Given the description of an element on the screen output the (x, y) to click on. 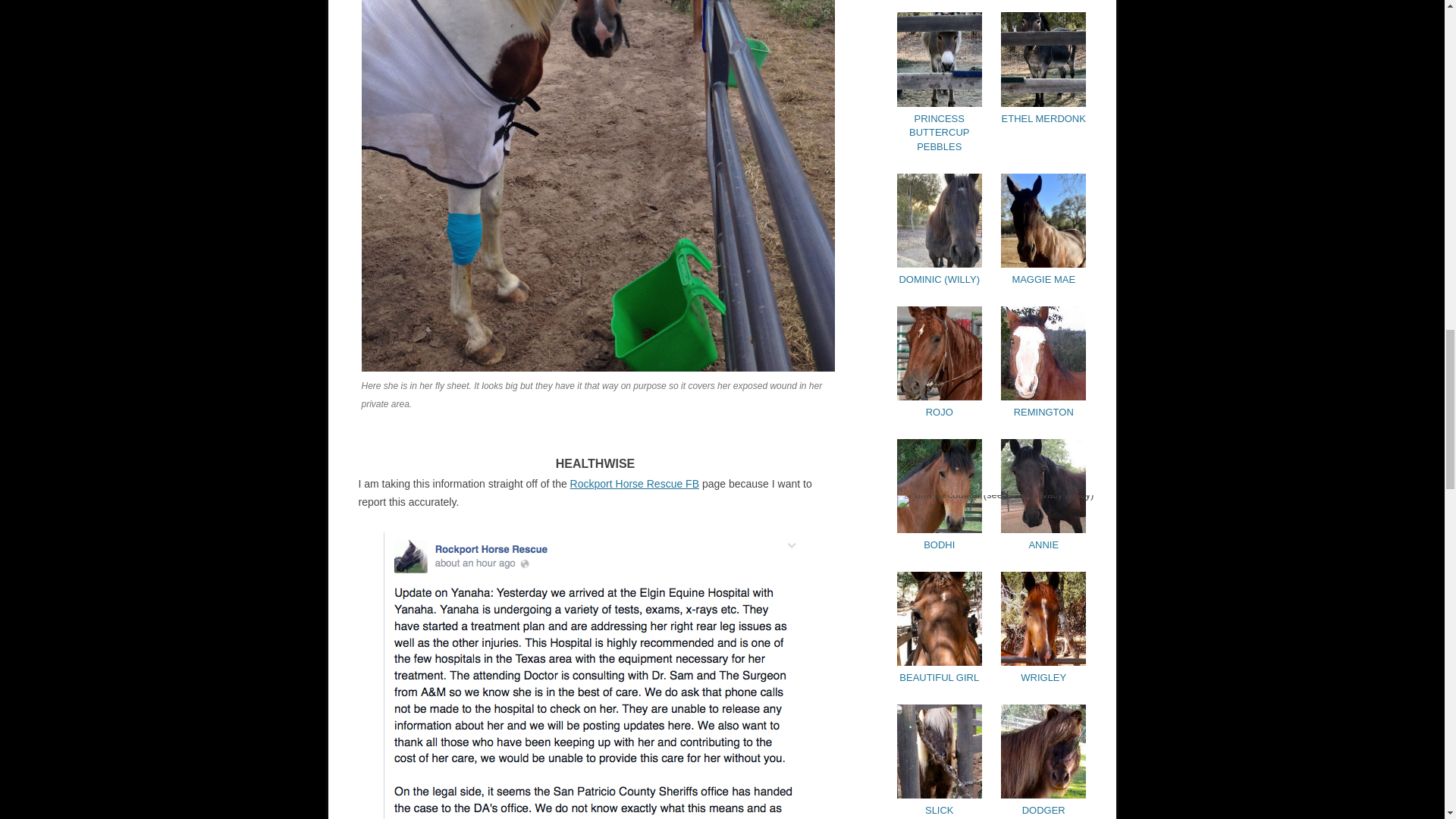
Rockport Horse Rescue FB (634, 483)
